Given the description of an element on the screen output the (x, y) to click on. 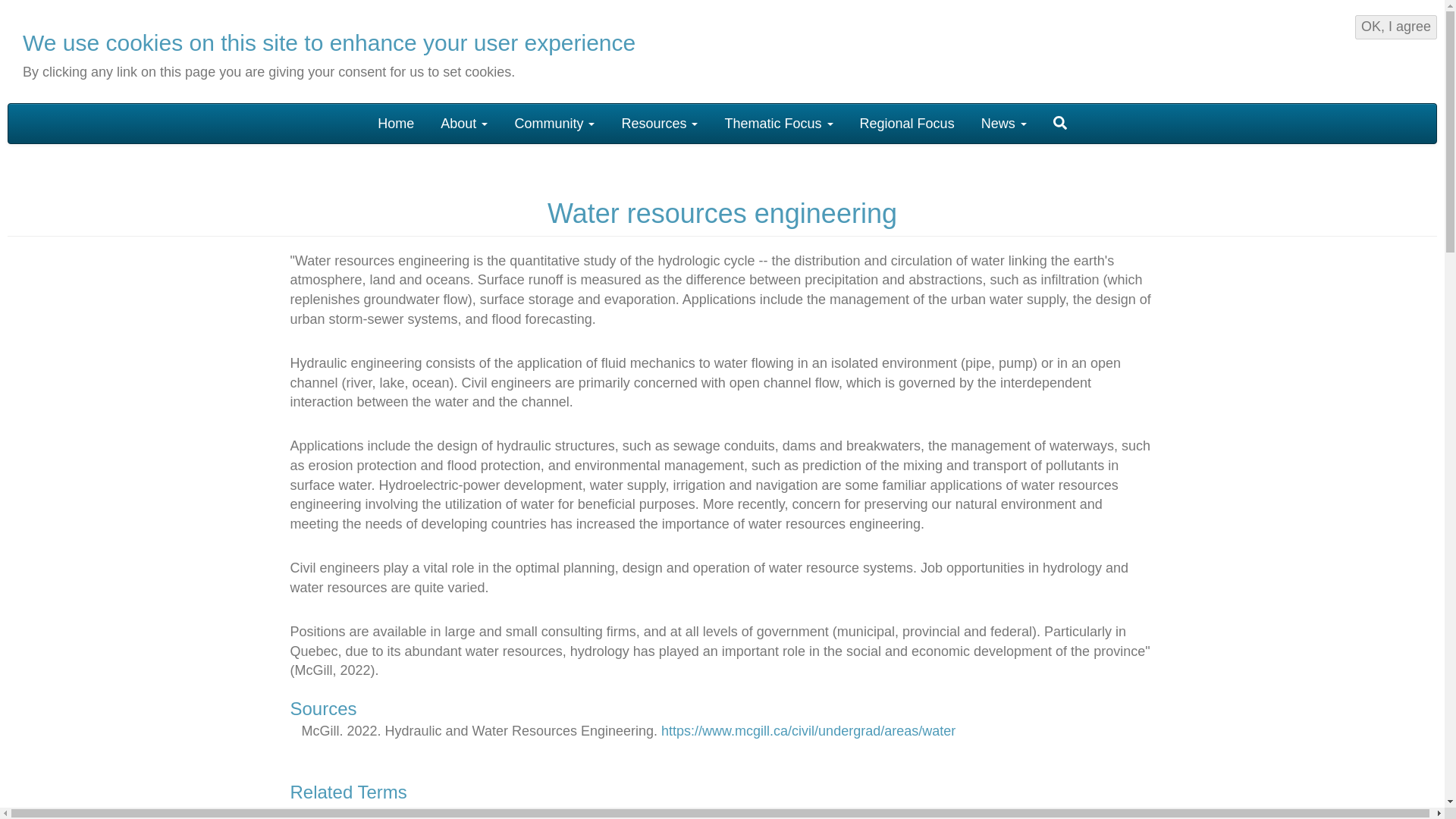
Home (395, 123)
News (1003, 123)
About (464, 123)
Regional Focus (907, 123)
Prince Sultan Bin Abdulaziz International Price for Water (1342, 48)
United Nations Office for Outer Space Affairs (1150, 48)
Community (553, 123)
Thematic Focus (778, 123)
Home (116, 53)
Resources (659, 123)
